Given the description of an element on the screen output the (x, y) to click on. 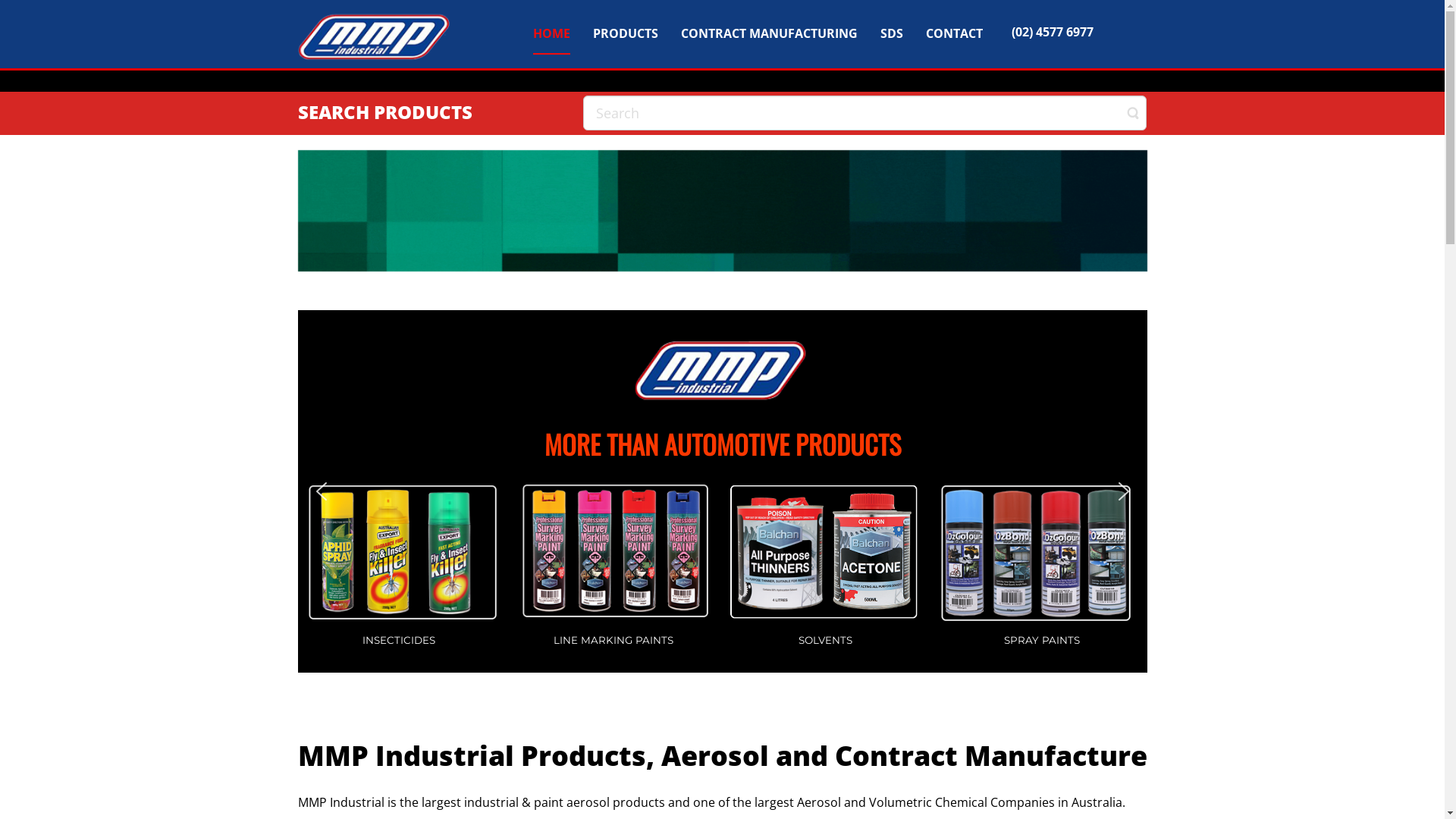
HOME Element type: text (551, 30)
CONTRACT MANUFACTURING Element type: text (768, 30)
SDS Element type: text (891, 30)
CONTACT Element type: text (953, 30)
PRODUCTS Element type: text (625, 30)
